Given the description of an element on the screen output the (x, y) to click on. 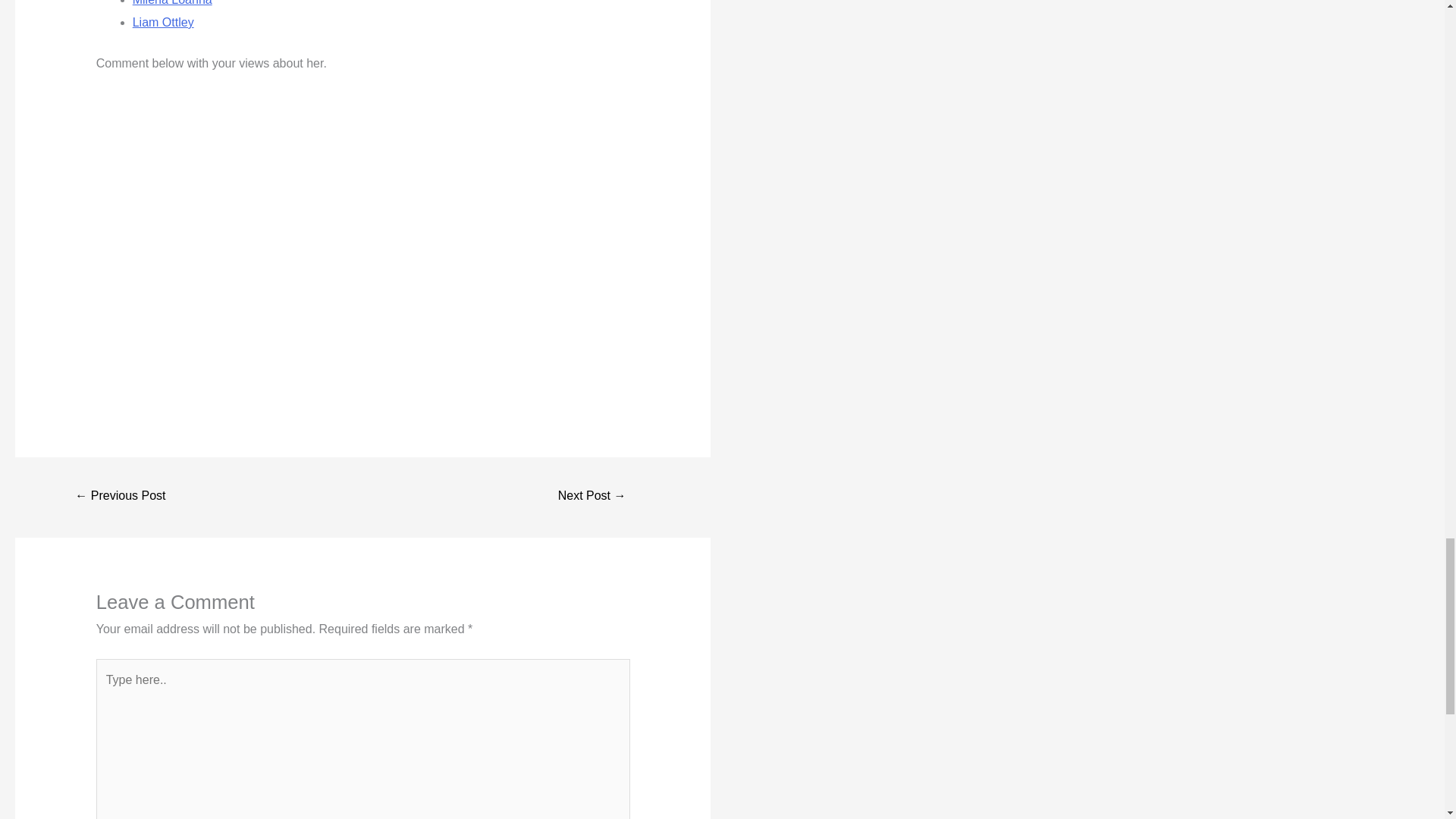
Liam Ottley (162, 21)
Milena Loanna (172, 2)
